Given the description of an element on the screen output the (x, y) to click on. 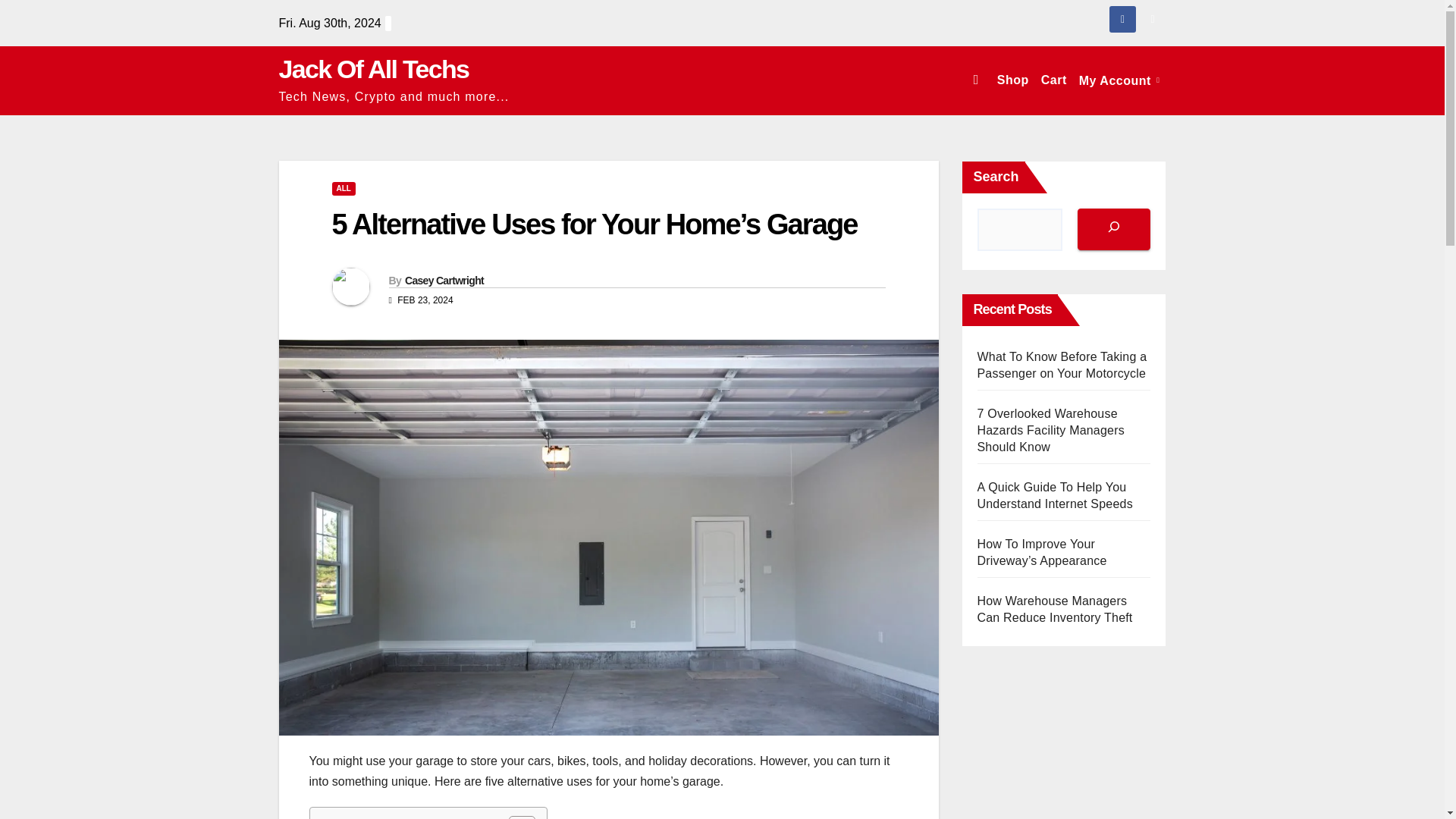
Casey Cartwright (443, 280)
Jack Of All Techs (373, 68)
ALL (343, 188)
My Account (1119, 80)
My account (1119, 80)
